Given the description of an element on the screen output the (x, y) to click on. 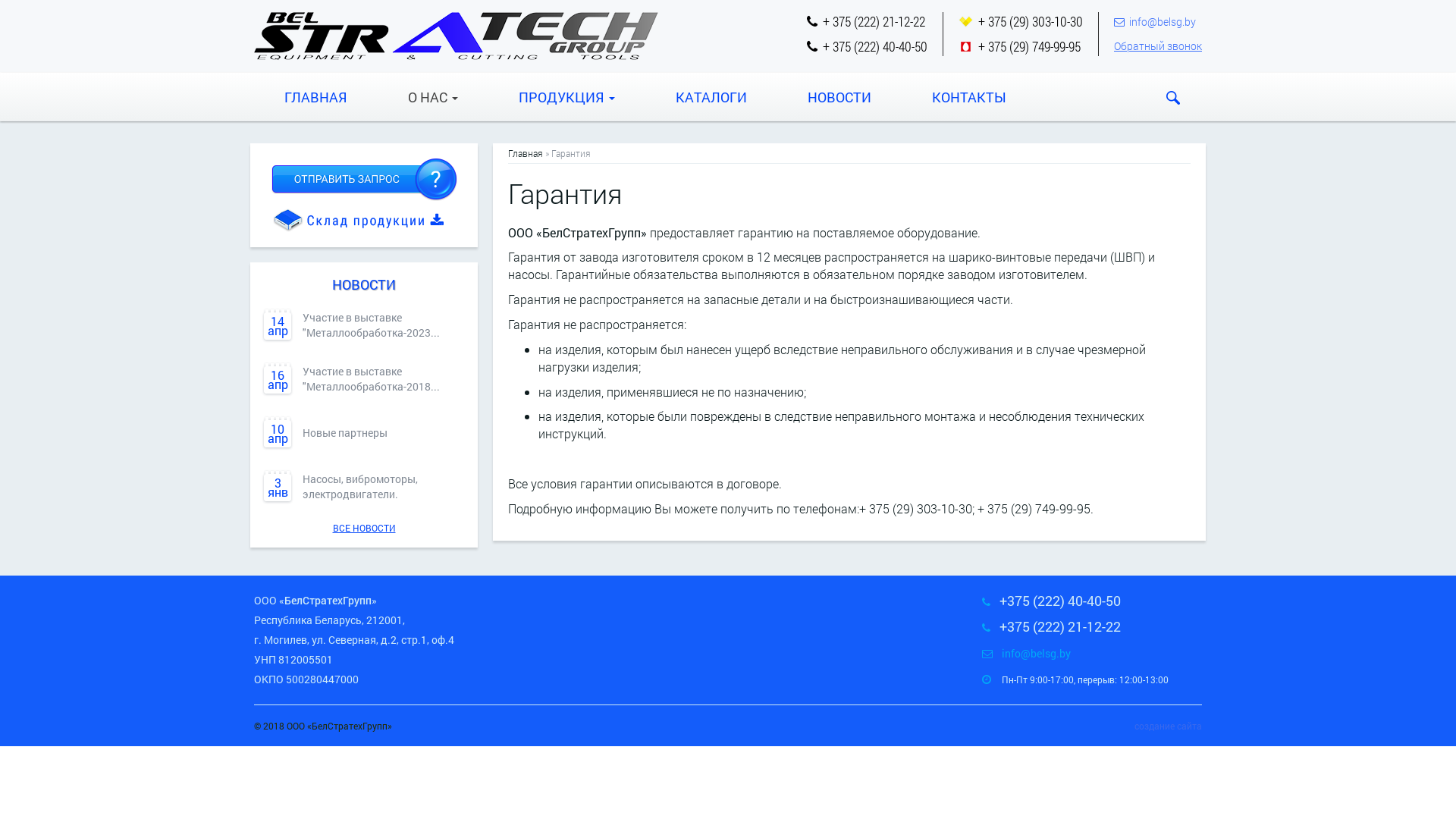
info@belsg.by Element type: text (1035, 653)
info@belsg.by Element type: text (1162, 21)
